Given the description of an element on the screen output the (x, y) to click on. 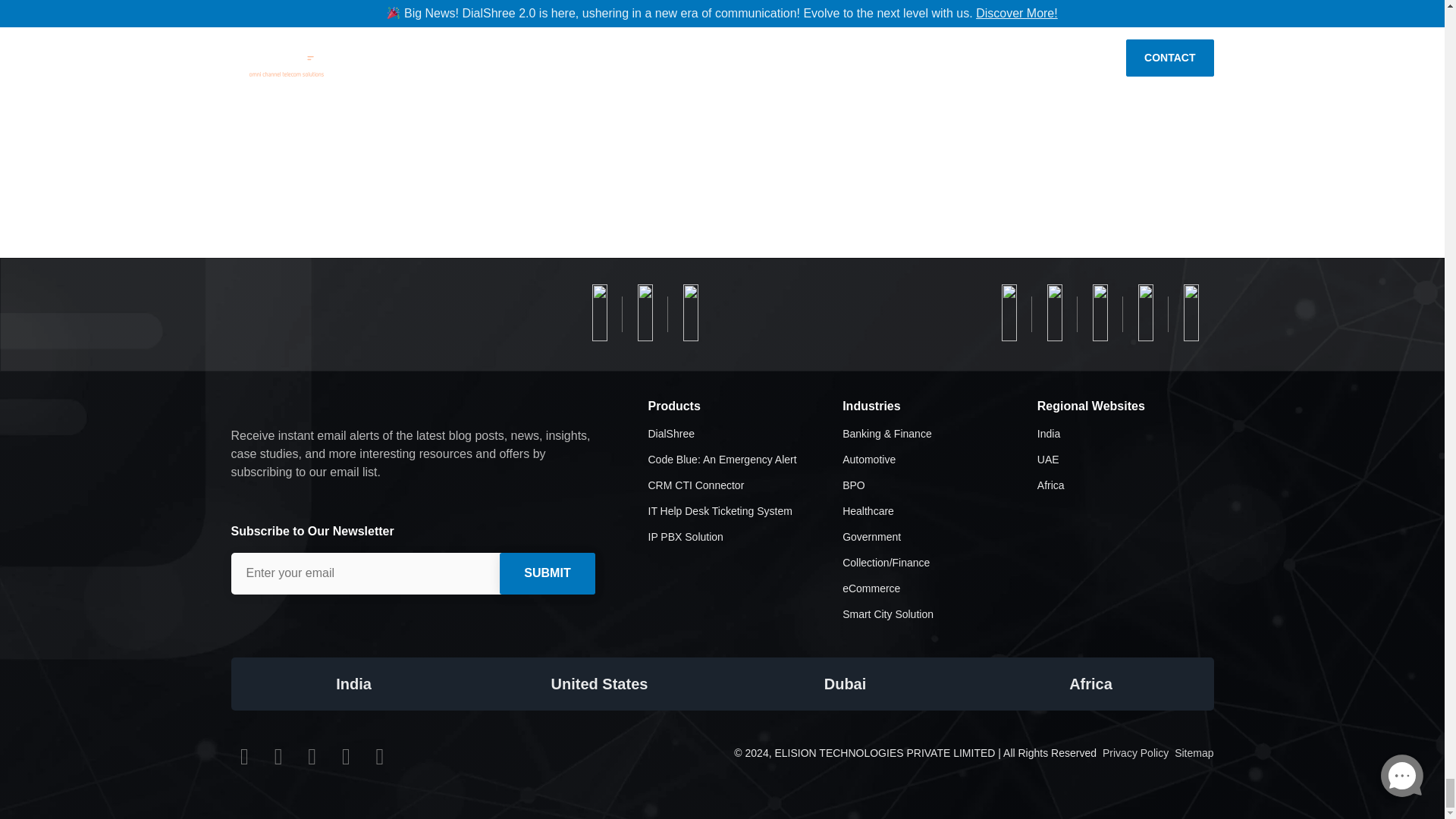
Submit (546, 572)
